Given the description of an element on the screen output the (x, y) to click on. 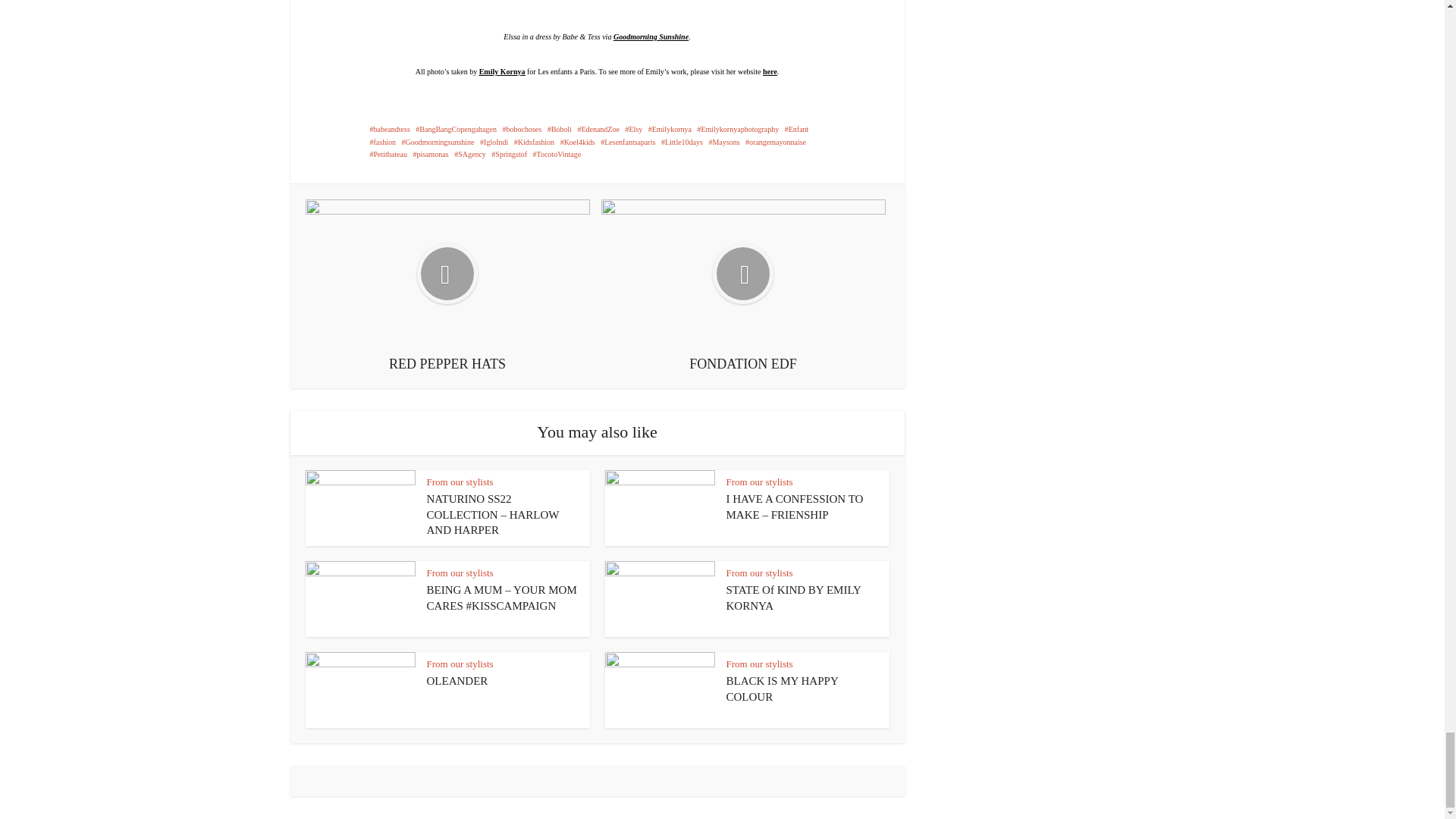
OLEANDER (456, 680)
STATE Of KIND BY EMILY KORNYA (793, 596)
BLACK IS MY HAPPY COLOUR (782, 687)
